Given the description of an element on the screen output the (x, y) to click on. 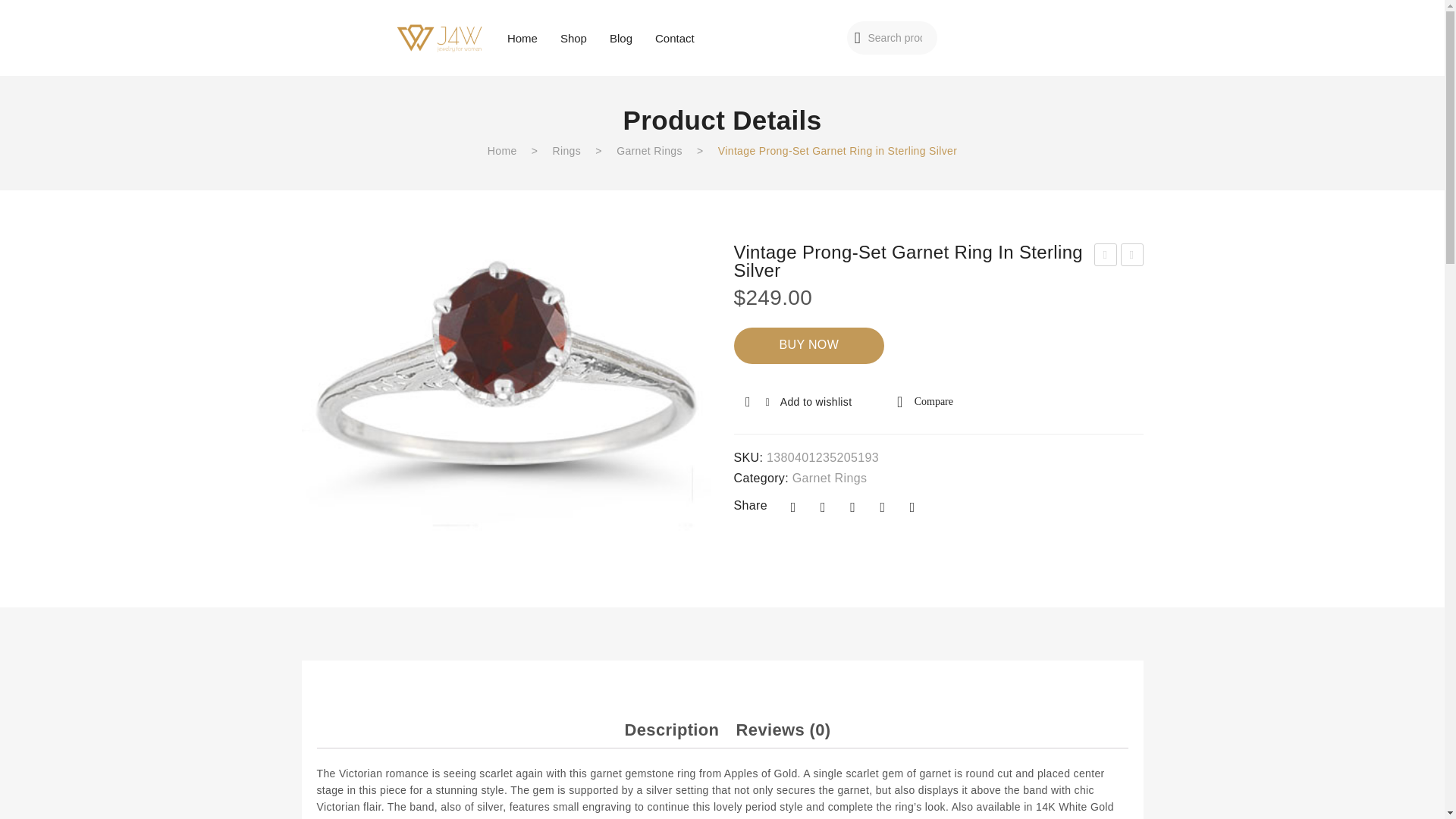
Twitter (822, 507)
LinkedIn (912, 507)
Jewelry for Women (439, 37)
Vintage Prong-Set Garnet Ring in Sterling Silver (506, 386)
Pinterest (852, 507)
Facebook (793, 507)
